Given the description of an element on the screen output the (x, y) to click on. 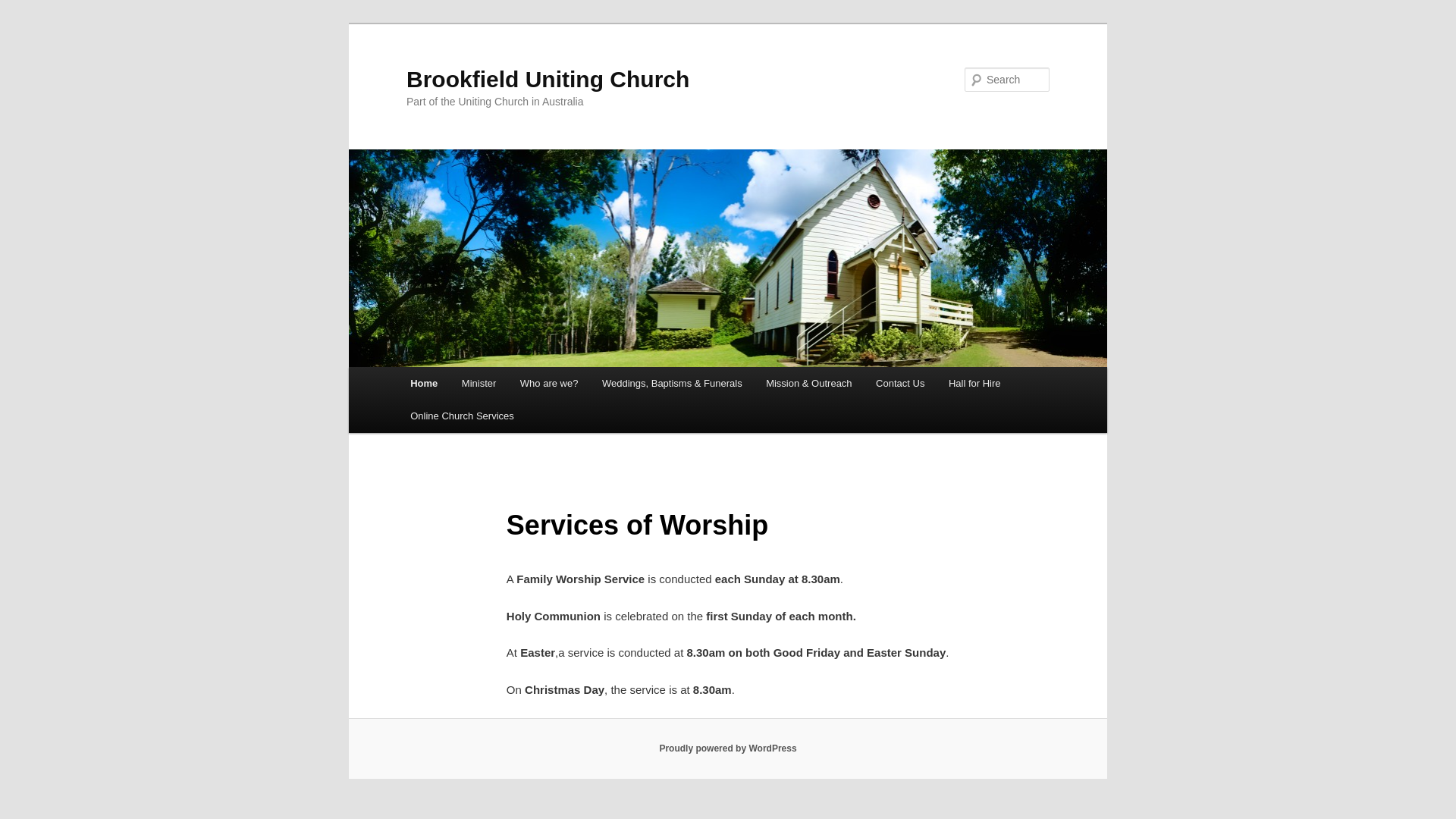
Home Element type: text (423, 383)
Minister Element type: text (478, 383)
Contact Us Element type: text (899, 383)
Proudly powered by WordPress Element type: text (727, 748)
Search Element type: text (24, 8)
Online Church Services Element type: text (461, 415)
Brookfield Uniting Church Element type: text (547, 78)
Skip to primary content Element type: text (22, 22)
Hall for Hire Element type: text (974, 383)
Mission & Outreach Element type: text (808, 383)
Weddings, Baptisms & Funerals Element type: text (671, 383)
Who are we? Element type: text (548, 383)
